Given the description of an element on the screen output the (x, y) to click on. 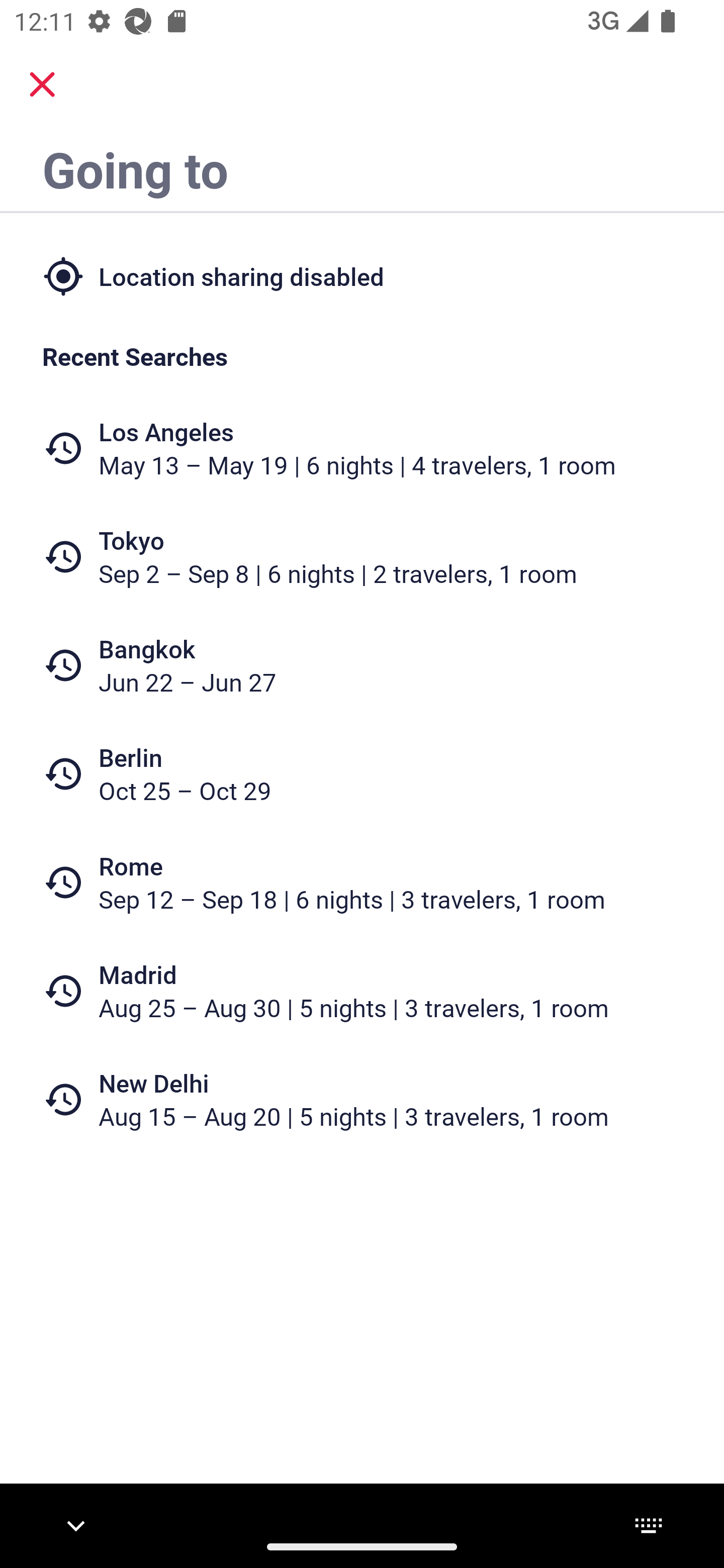
close. (42, 84)
Location sharing disabled (362, 275)
Bangkok Jun 22 – Jun 27 (362, 665)
Berlin Oct 25 – Oct 29 (362, 773)
